Given the description of an element on the screen output the (x, y) to click on. 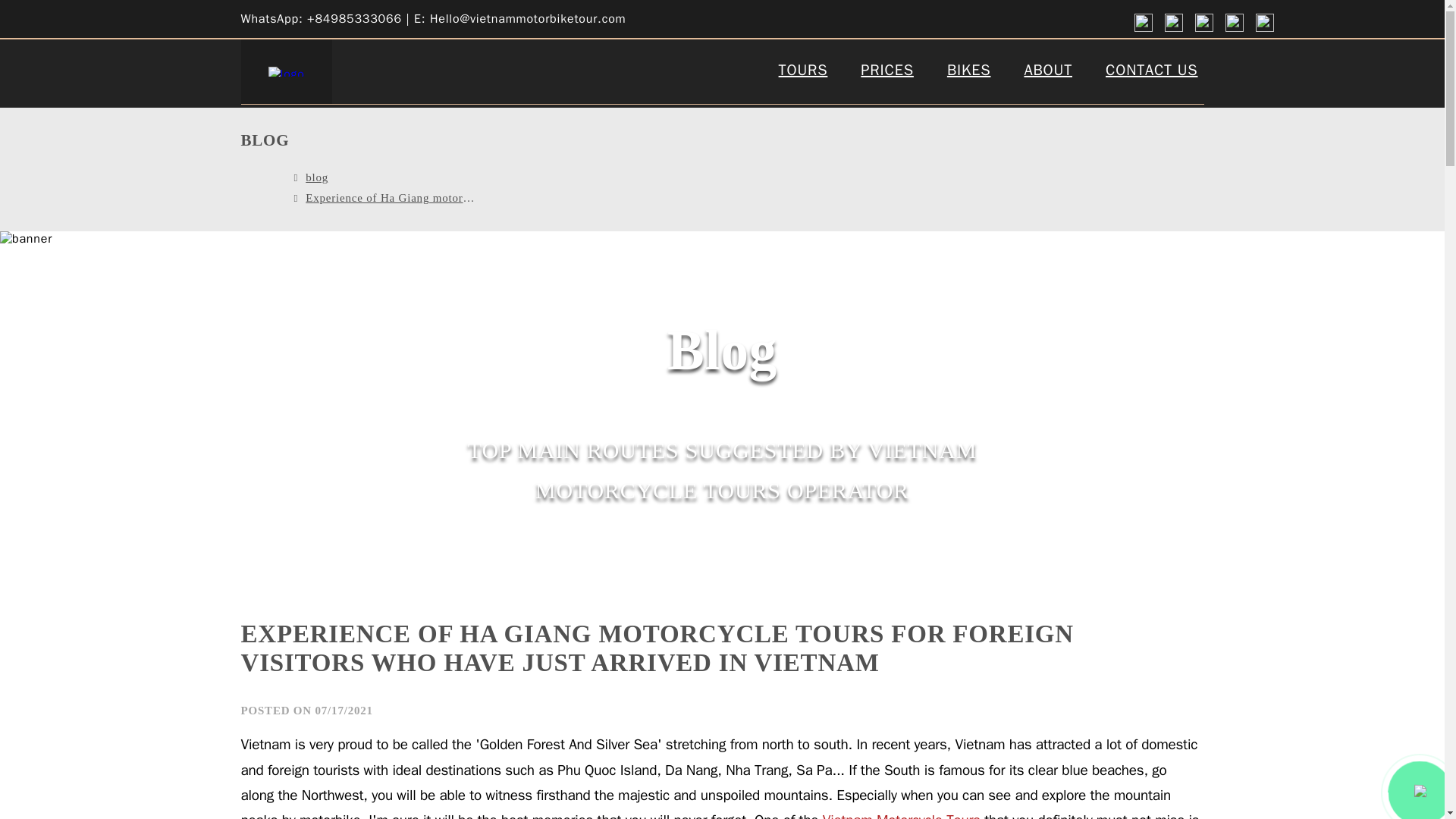
BIKES (968, 70)
ABOUT (1047, 70)
PRICES (887, 70)
Bikes (968, 70)
About (1047, 70)
TOURS (803, 70)
Tours (803, 70)
CONTACT US (1151, 70)
Prices (887, 70)
Contact us (1151, 70)
